Given the description of an element on the screen output the (x, y) to click on. 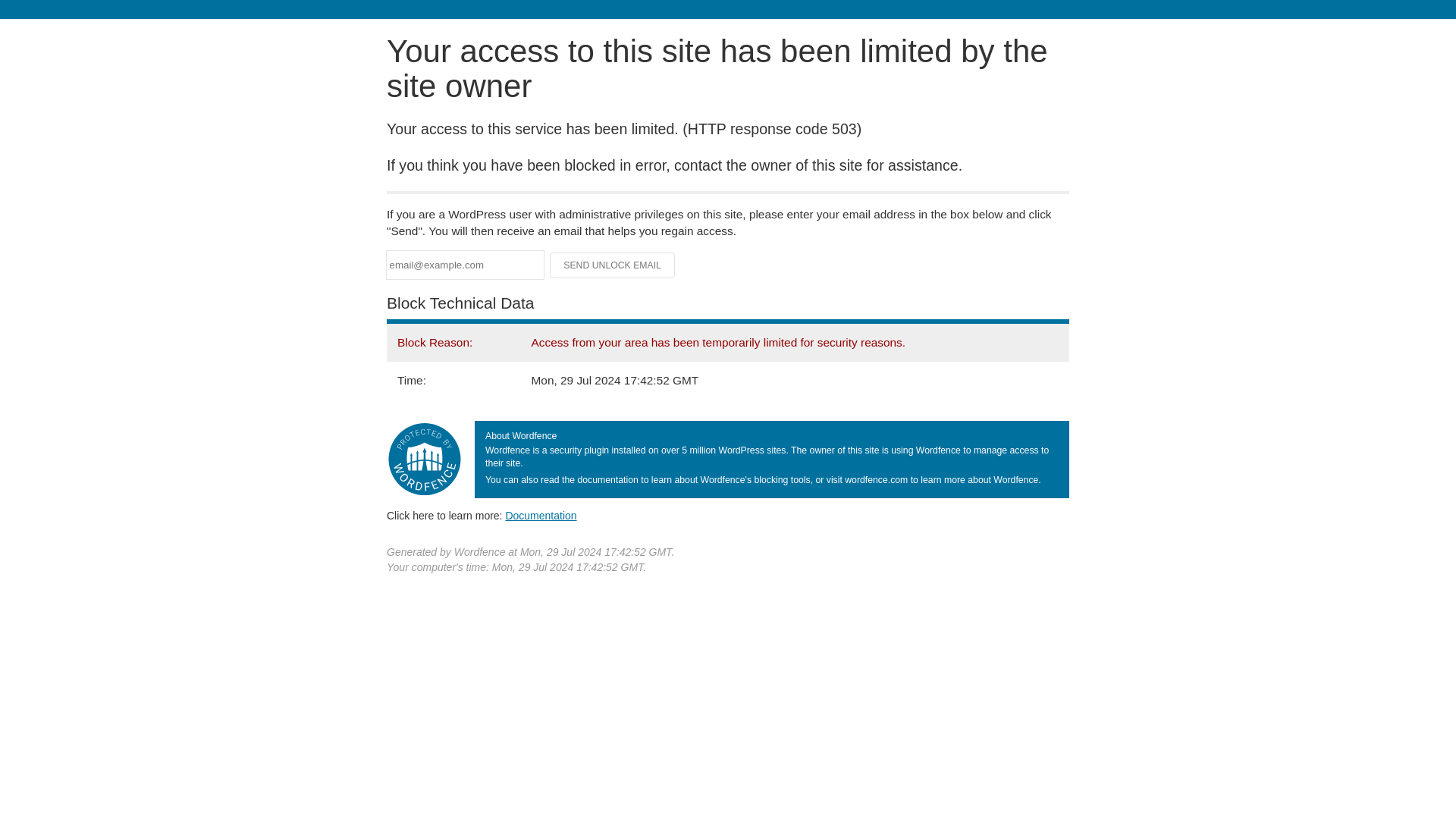
Send Unlock Email (612, 265)
Documentation (540, 515)
Send Unlock Email (612, 265)
